Given the description of an element on the screen output the (x, y) to click on. 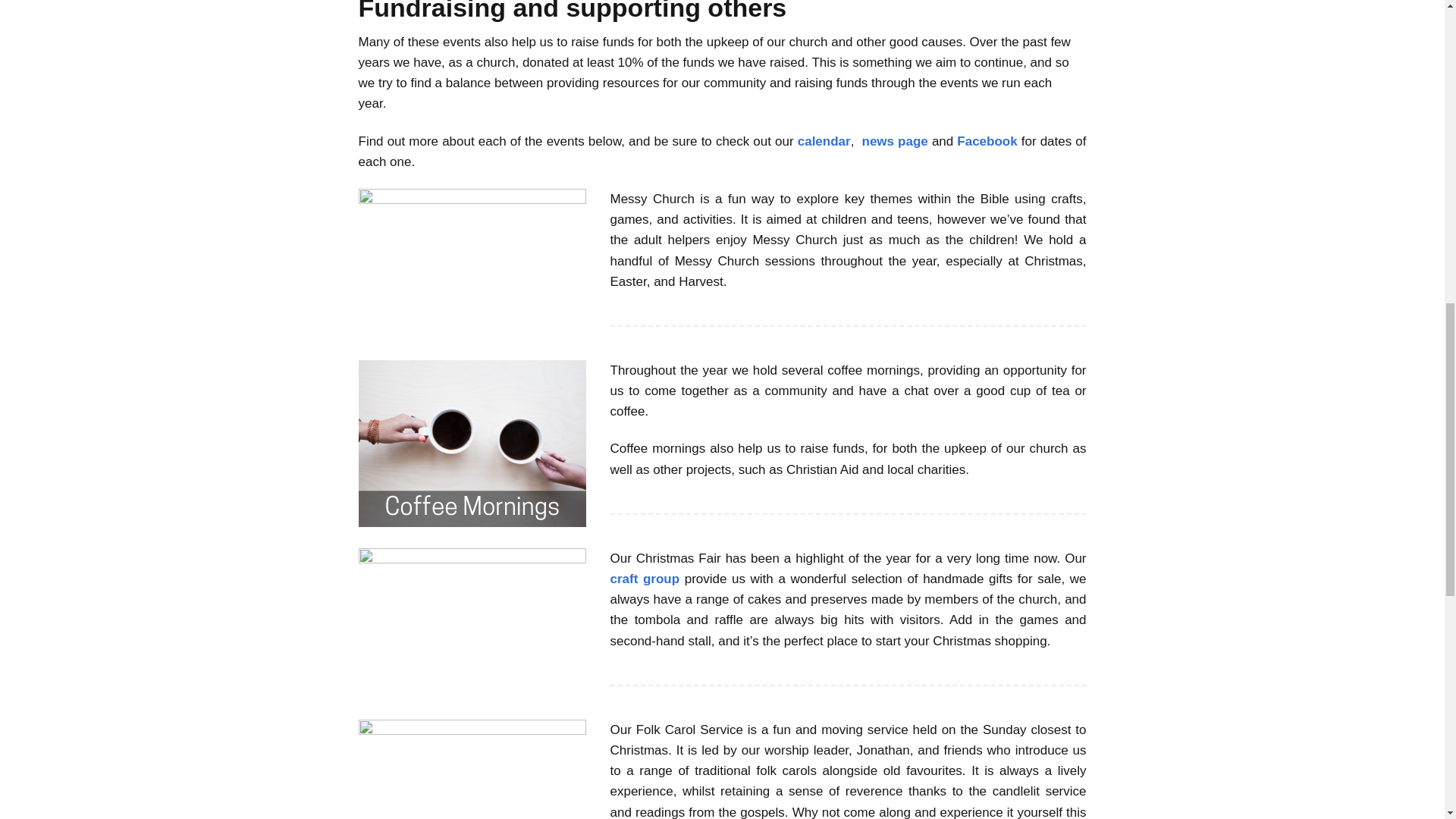
Facebook (986, 141)
craft group (644, 578)
news page (894, 141)
calendar (823, 141)
